Given the description of an element on the screen output the (x, y) to click on. 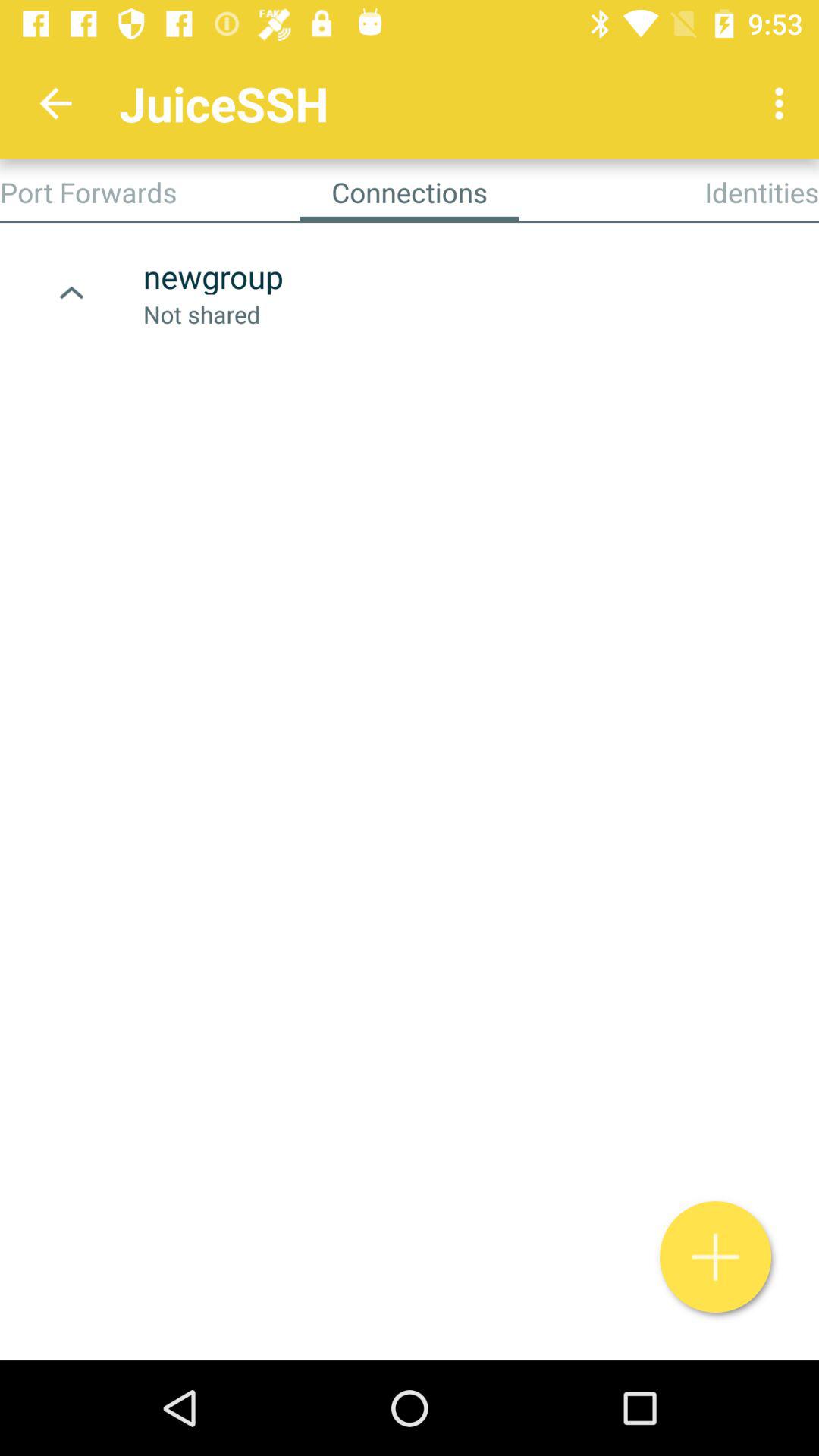
open the item next to the juicessh app (55, 103)
